Given the description of an element on the screen output the (x, y) to click on. 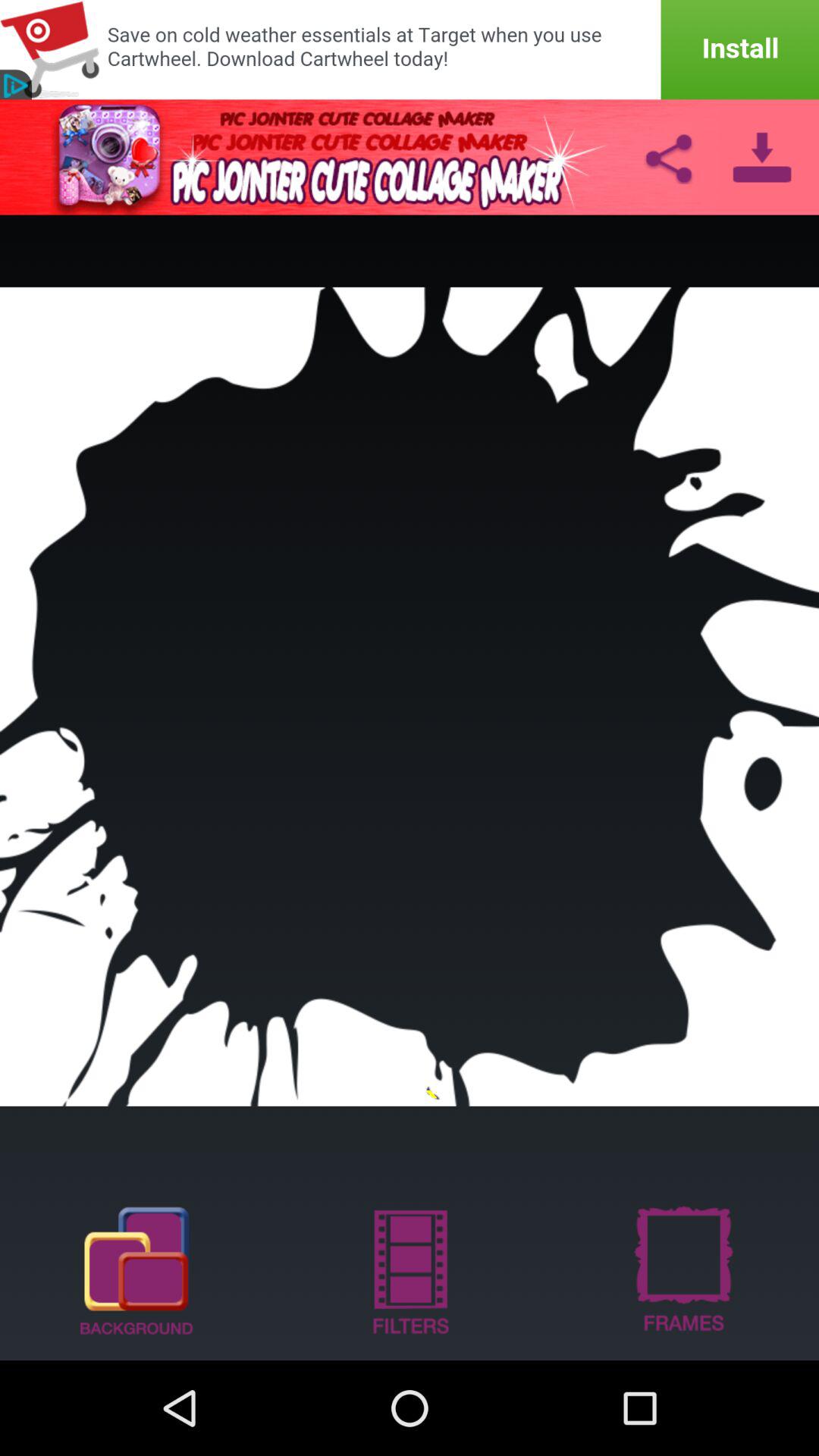
share image (668, 156)
